Given the description of an element on the screen output the (x, y) to click on. 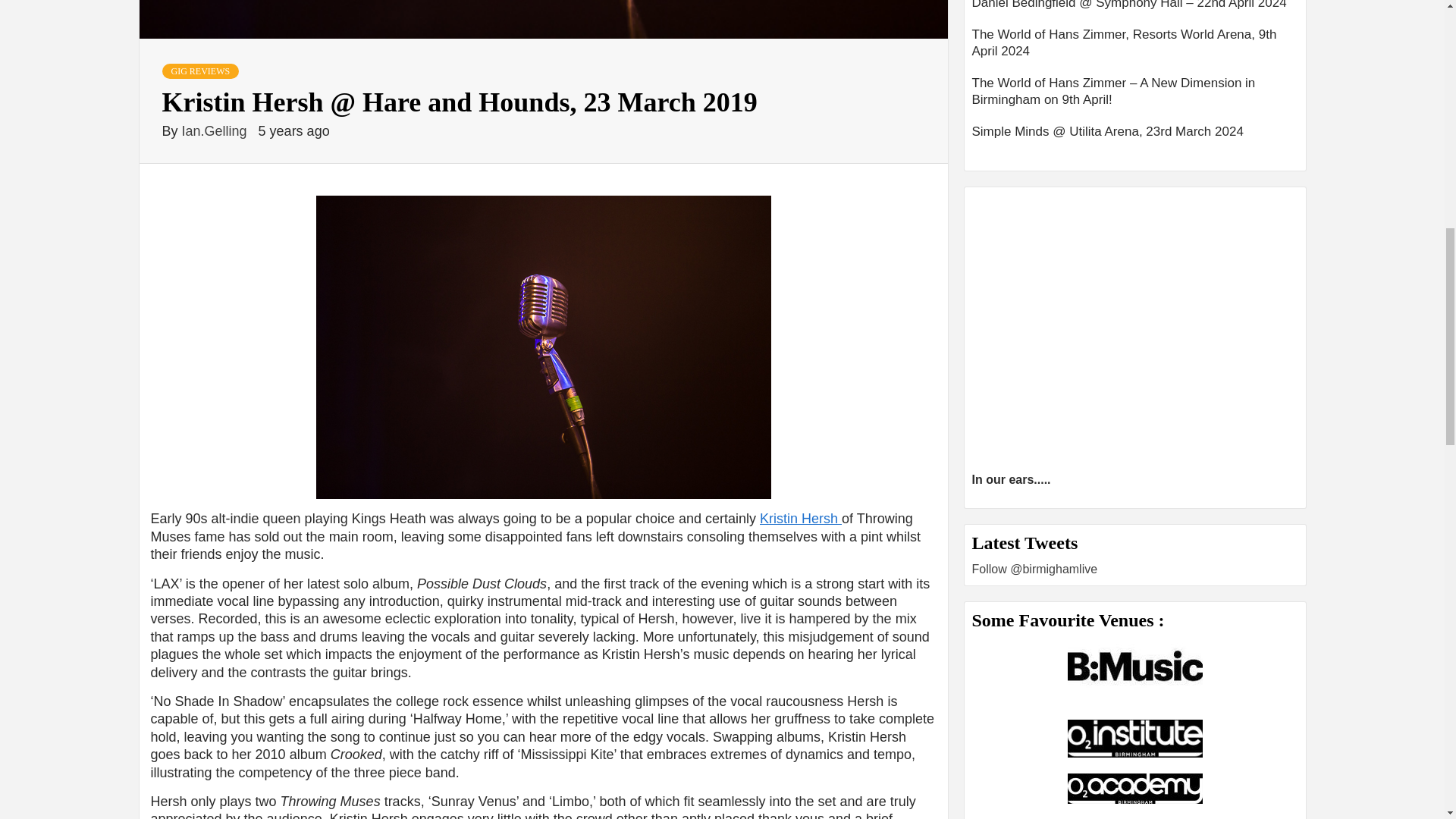
Kristin Hersh (800, 518)
GIG REVIEWS (200, 70)
Ian.Gelling (216, 130)
